Given the description of an element on the screen output the (x, y) to click on. 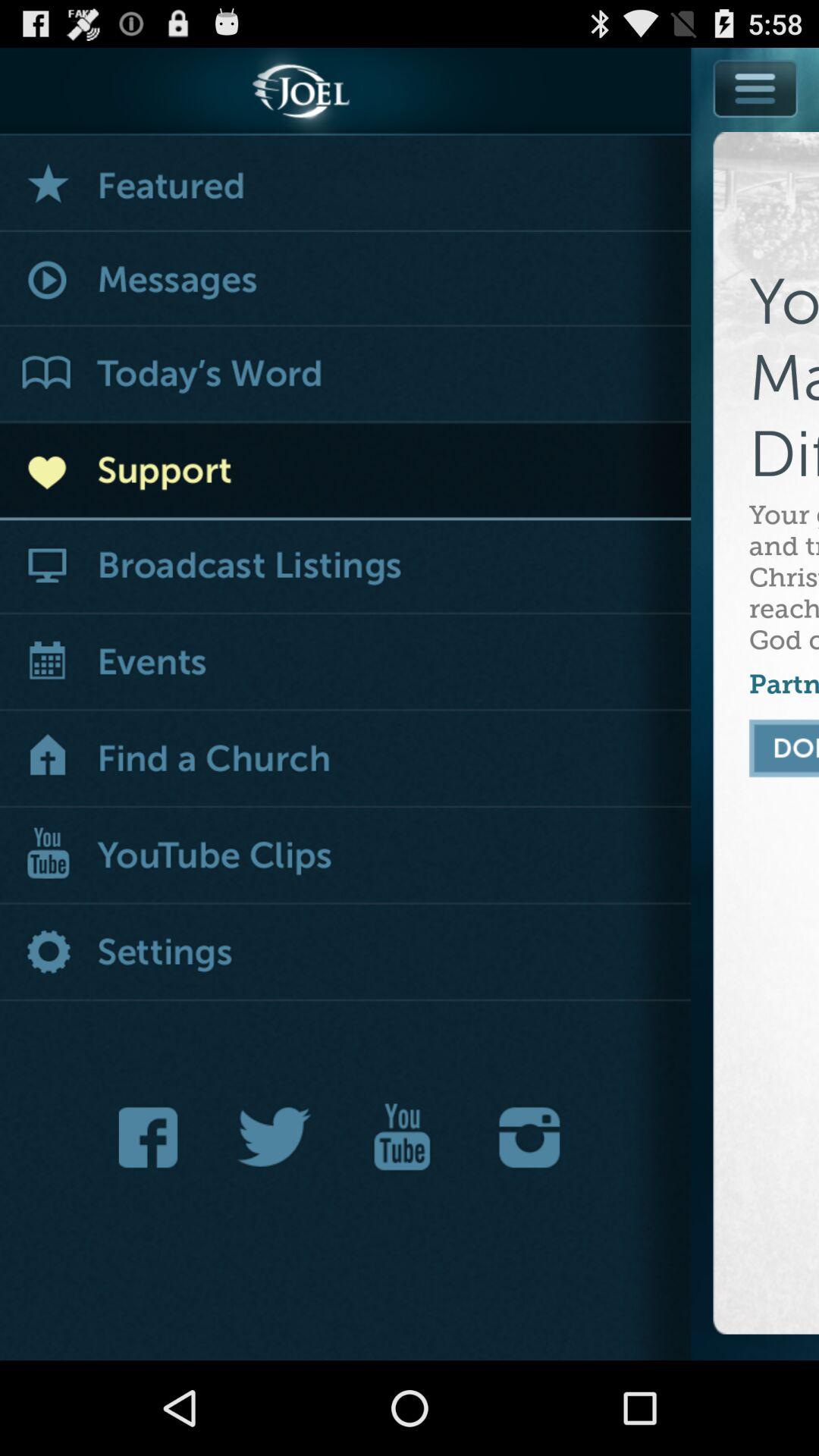
contact technicial support (345, 471)
